Given the description of an element on the screen output the (x, y) to click on. 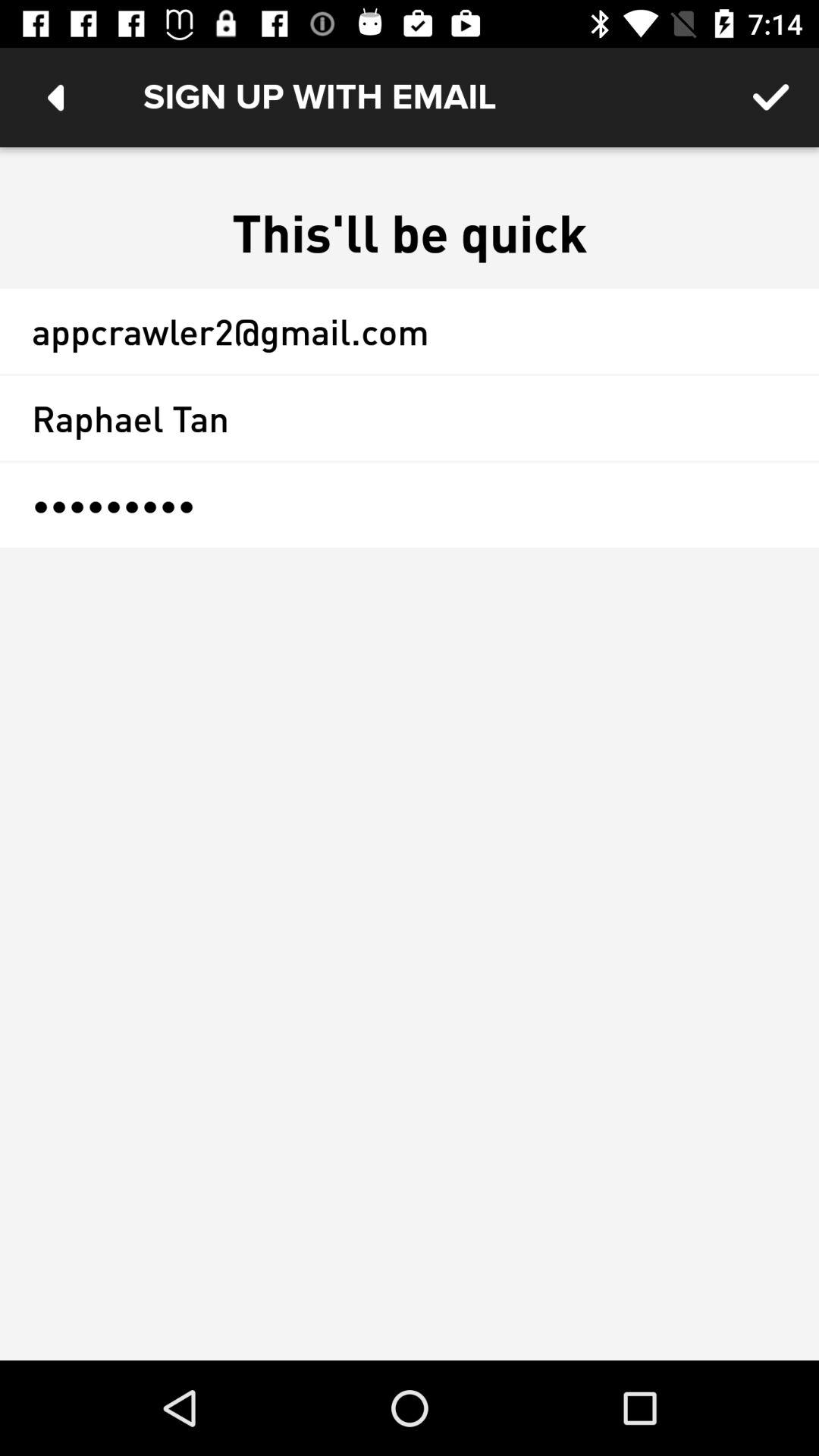
click item below raphael tan (409, 504)
